Given the description of an element on the screen output the (x, y) to click on. 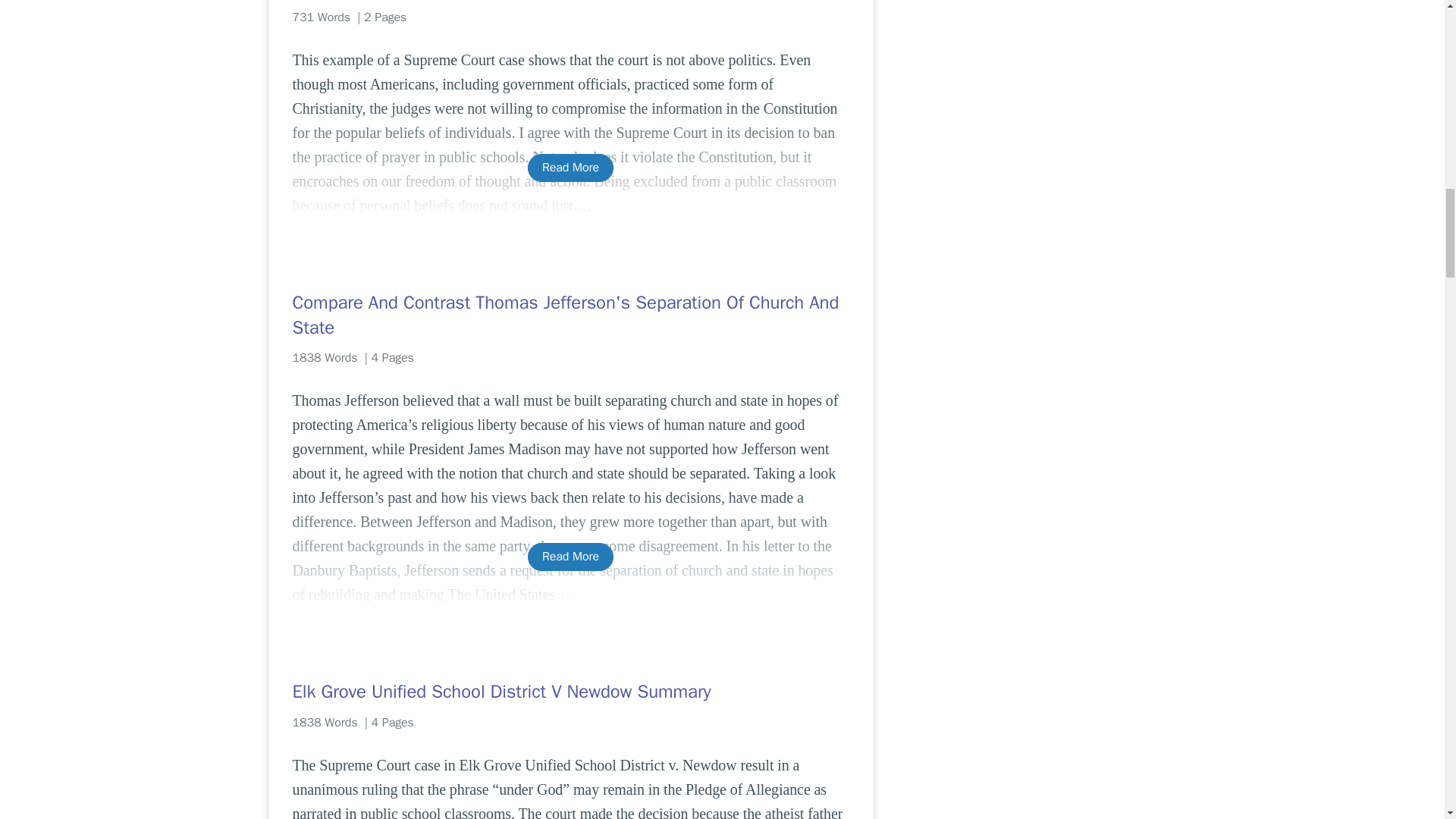
Read More (569, 556)
Elk Grove Unified School District V Newdow Summary (570, 691)
Read More (569, 167)
